Given the description of an element on the screen output the (x, y) to click on. 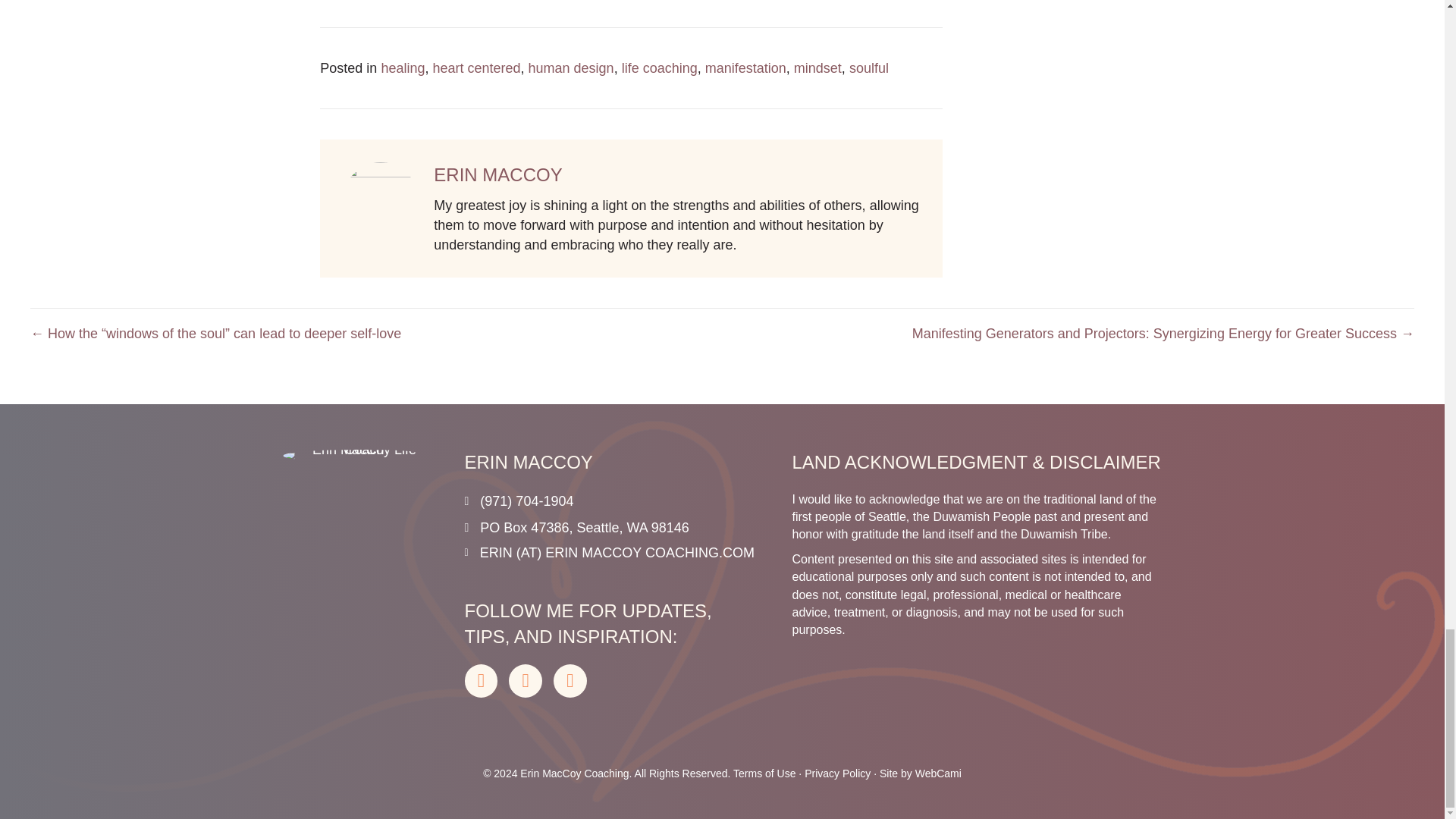
manifestation (745, 68)
soulful (868, 68)
human design (571, 68)
Privacy Policy (836, 773)
life coaching (659, 68)
healing (402, 68)
heart centered (475, 68)
Erin MacCoy Marketing Coach (357, 455)
Terms of Use (763, 773)
mindset (817, 68)
